Given the description of an element on the screen output the (x, y) to click on. 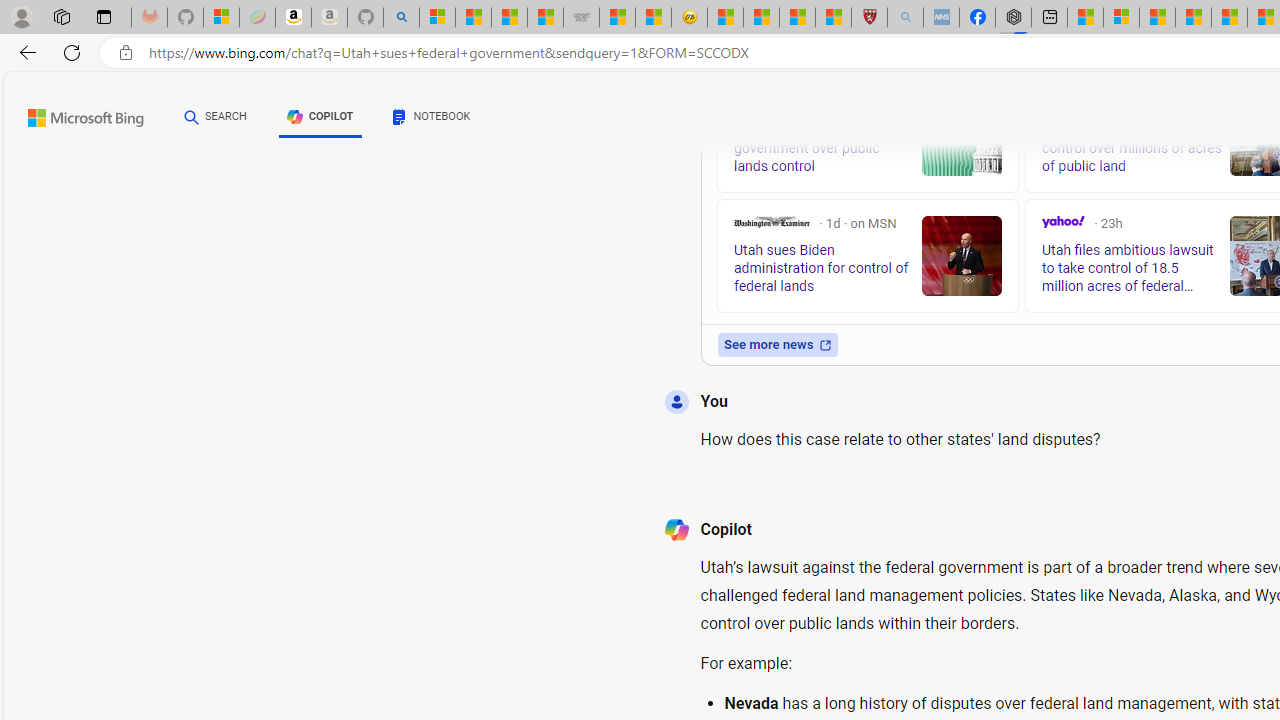
SEARCH (215, 117)
NOTEBOOK (431, 116)
